Given the description of an element on the screen output the (x, y) to click on. 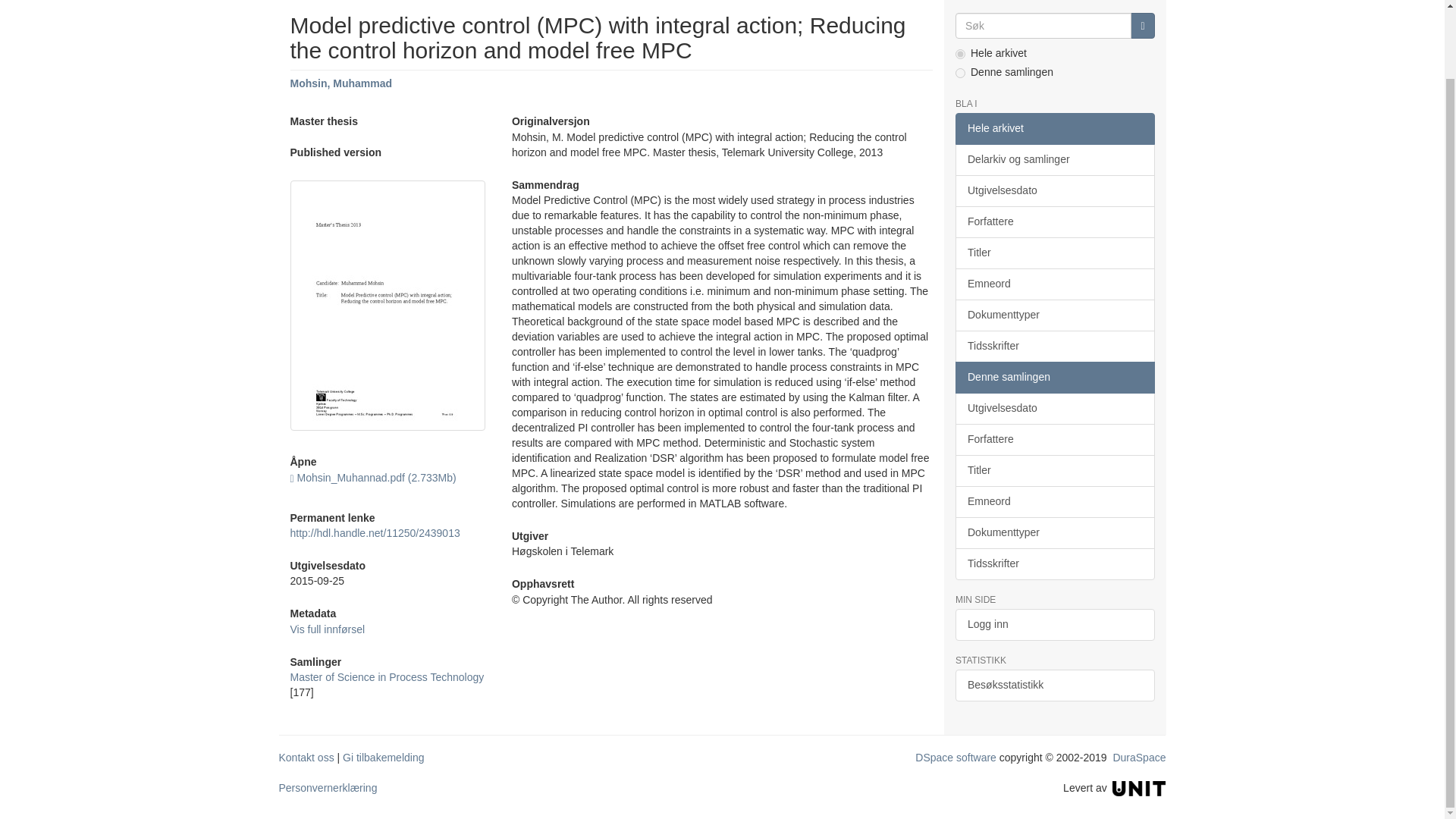
Master of Science in Process Technology (386, 676)
Mohsin, Muhammad (340, 82)
Unit (1139, 787)
Hele arkivet (1054, 128)
Dokumenttyper (1054, 315)
Tidsskrifter (1054, 346)
Titler (1054, 253)
Emneord (1054, 284)
Forfattere (1054, 222)
Utgivelsesdato (1054, 191)
